Given the description of an element on the screen output the (x, y) to click on. 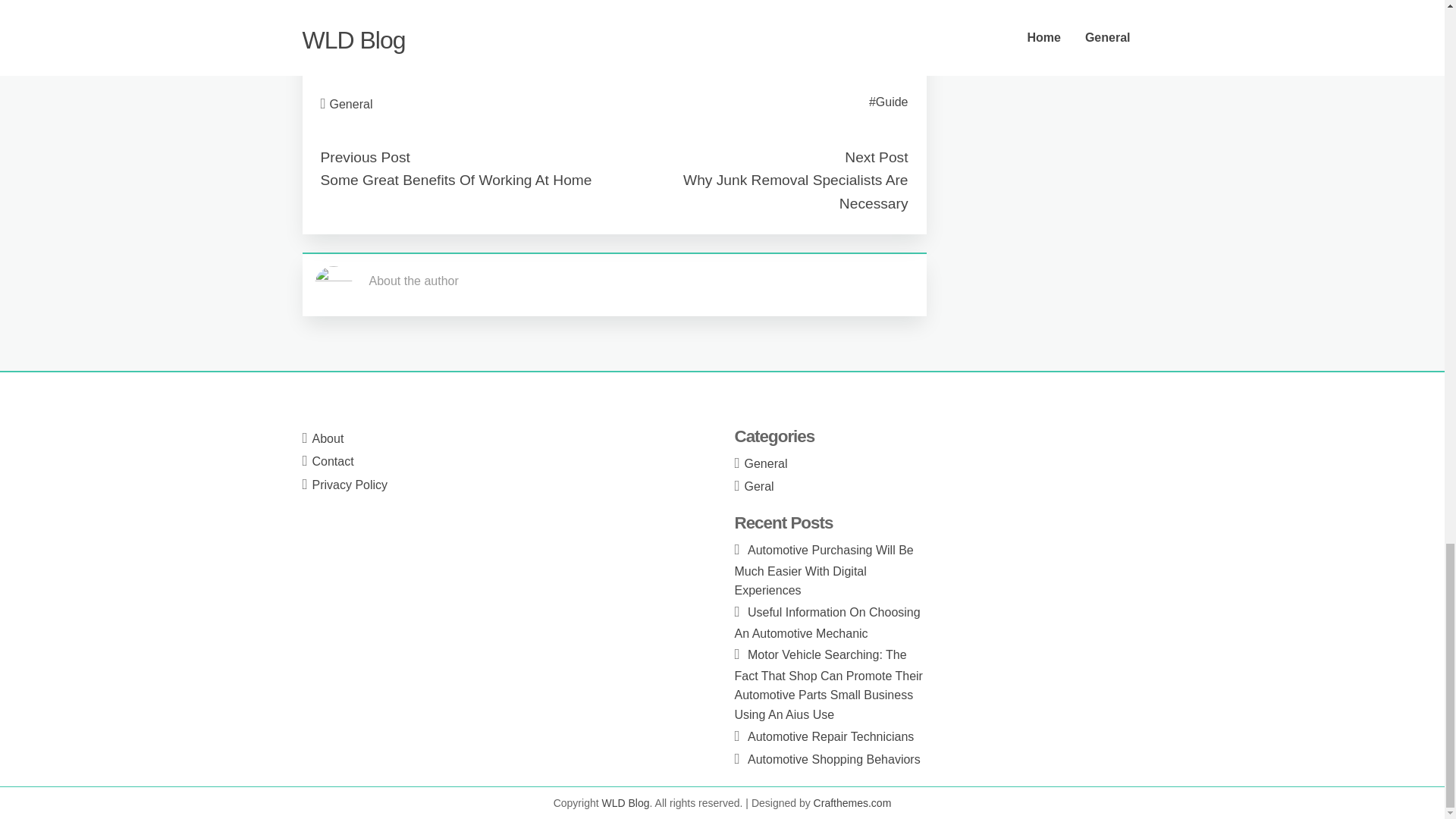
Next Post (875, 157)
Automotive Repair Technicians (831, 736)
Why Junk Removal Specialists Are Necessary (794, 191)
General (351, 103)
Previous Post (364, 157)
Privacy Policy (350, 484)
Useful Information On Choosing An Automotive Mechanic (826, 622)
WLD Blog (625, 802)
